Given the description of an element on the screen output the (x, y) to click on. 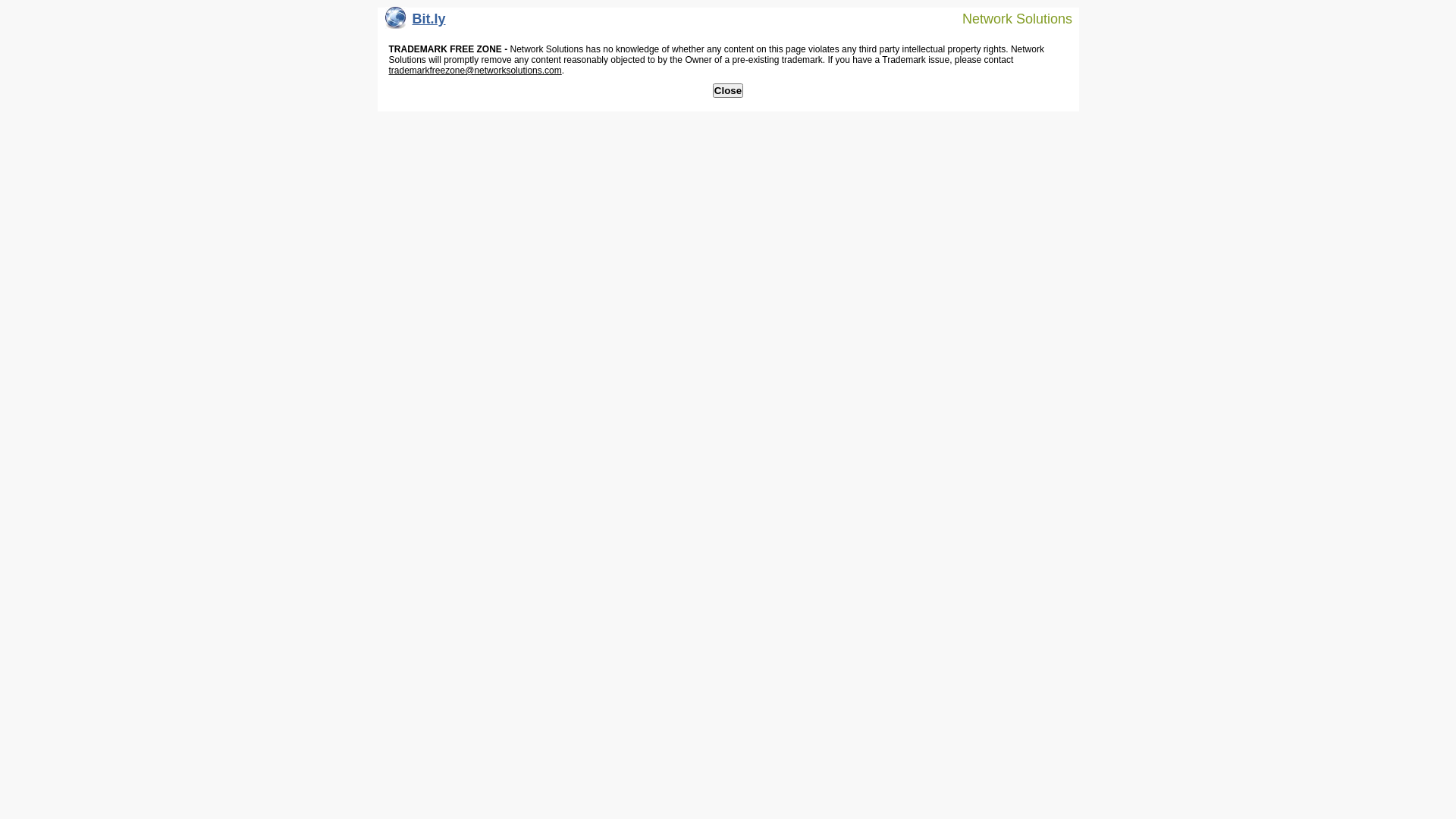
trademarkfreezone@networksolutions.com Element type: text (474, 70)
Close Element type: text (727, 90)
Network Solutions Element type: text (1007, 17)
Bit.ly Element type: text (415, 21)
